Given the description of an element on the screen output the (x, y) to click on. 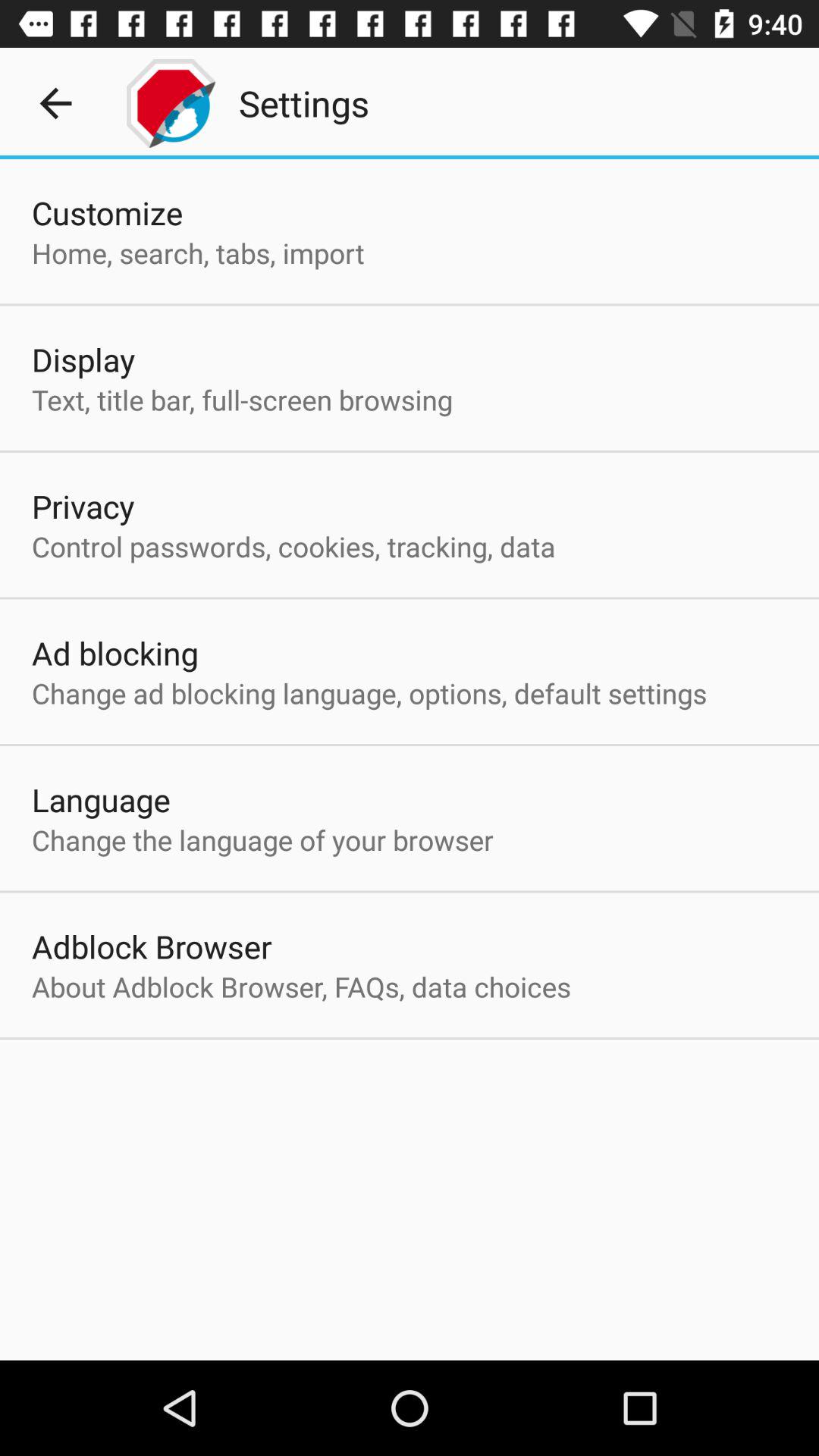
click the icon above display icon (197, 252)
